Given the description of an element on the screen output the (x, y) to click on. 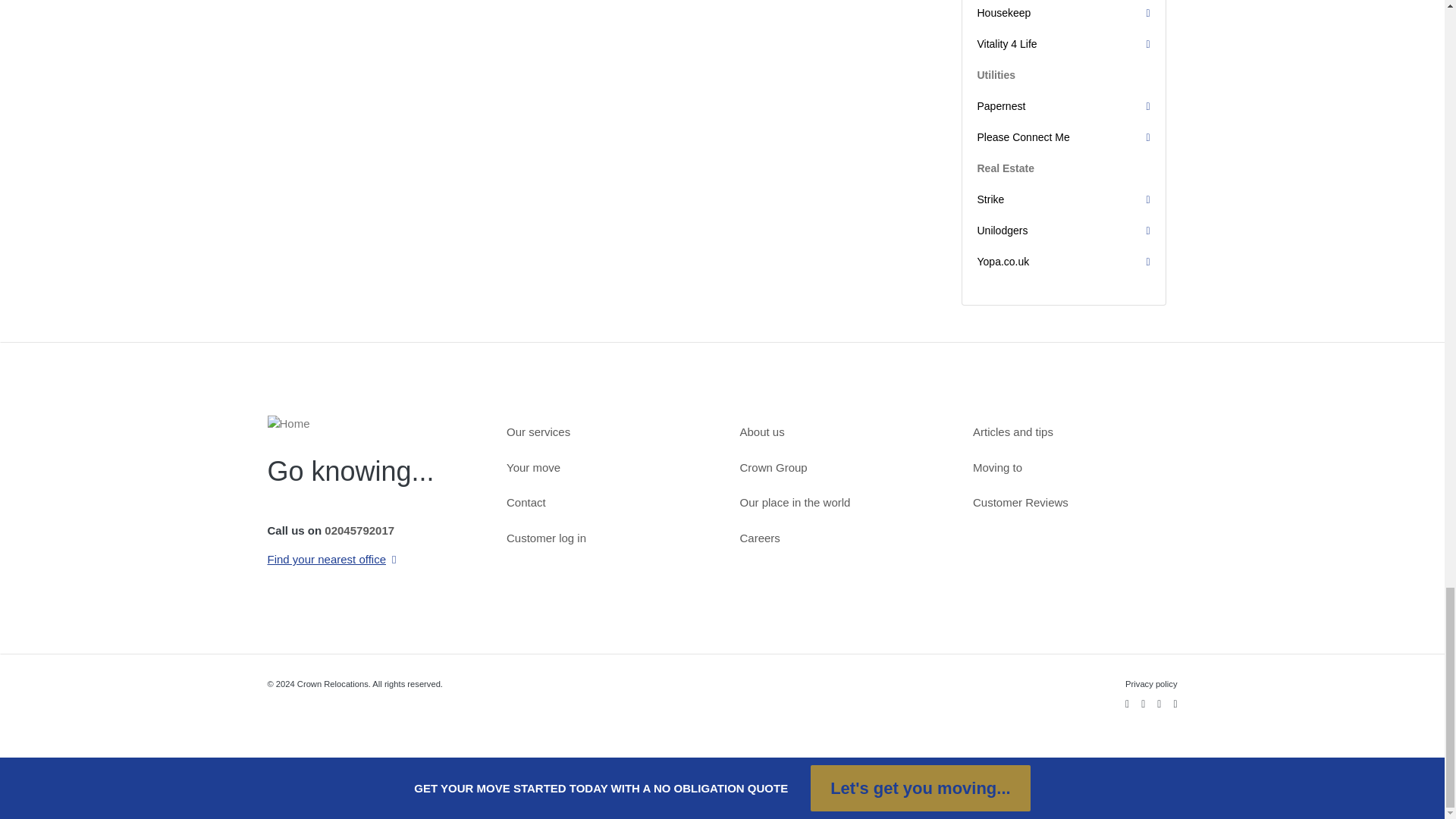
Customer log in (605, 538)
Careers (839, 538)
About us (839, 432)
Our place in the world (839, 503)
Contact (605, 503)
Privacy policy (1144, 684)
Read what customers have to say about Crown Relocations. (1072, 503)
Your move (605, 467)
Services (605, 432)
Articles and tips (1072, 432)
Destination guides (1072, 467)
Crown Group (839, 467)
